Given the description of an element on the screen output the (x, y) to click on. 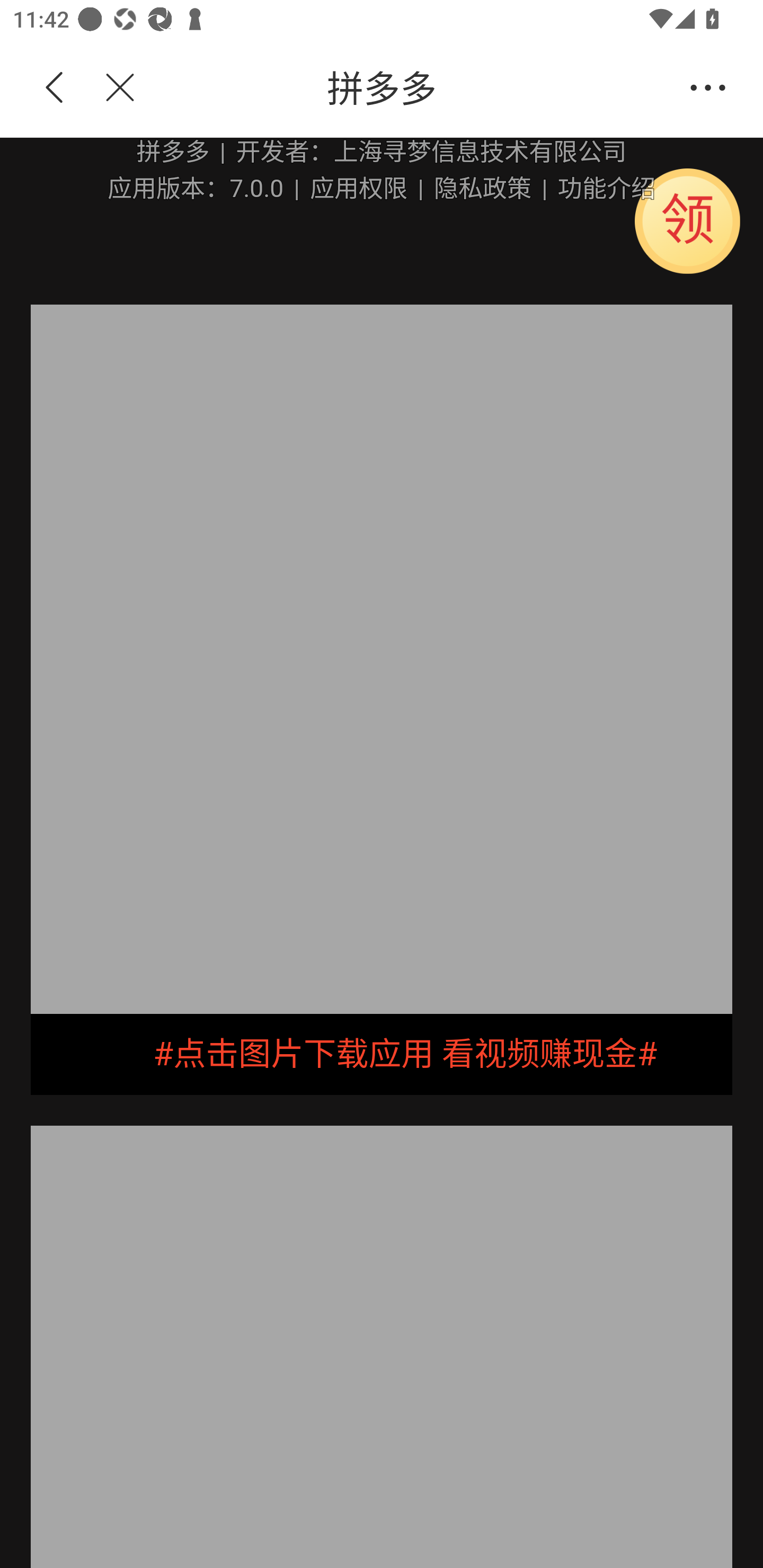
 (109, 87)
拼多多 (411, 87)
 返回 (54, 87)
 更多 (707, 87)
领 (687, 221)
#点击图片下载应用 看视频赚现金# (381, 1054)
